Given the description of an element on the screen output the (x, y) to click on. 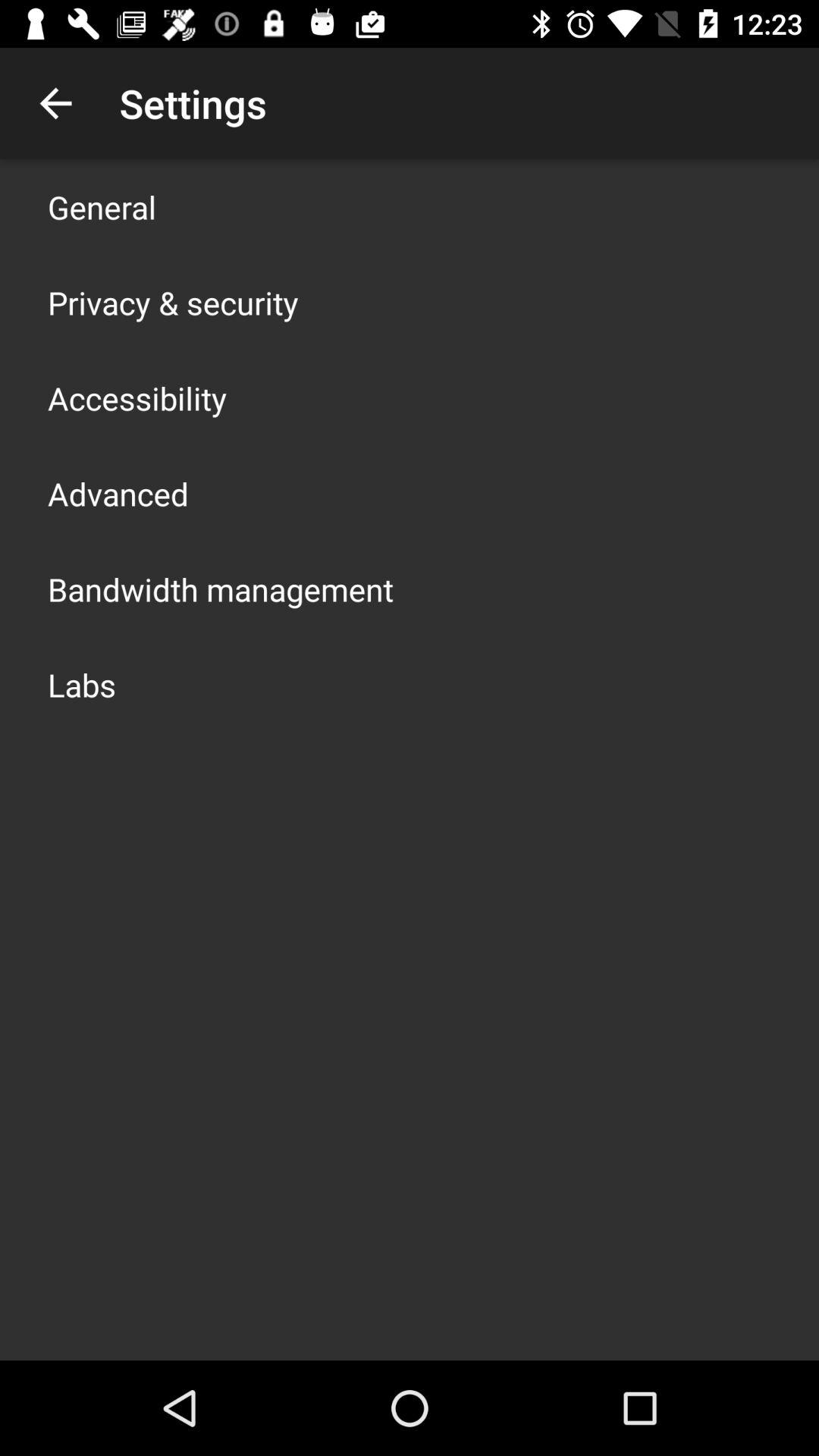
turn on app next to the settings item (55, 103)
